Given the description of an element on the screen output the (x, y) to click on. 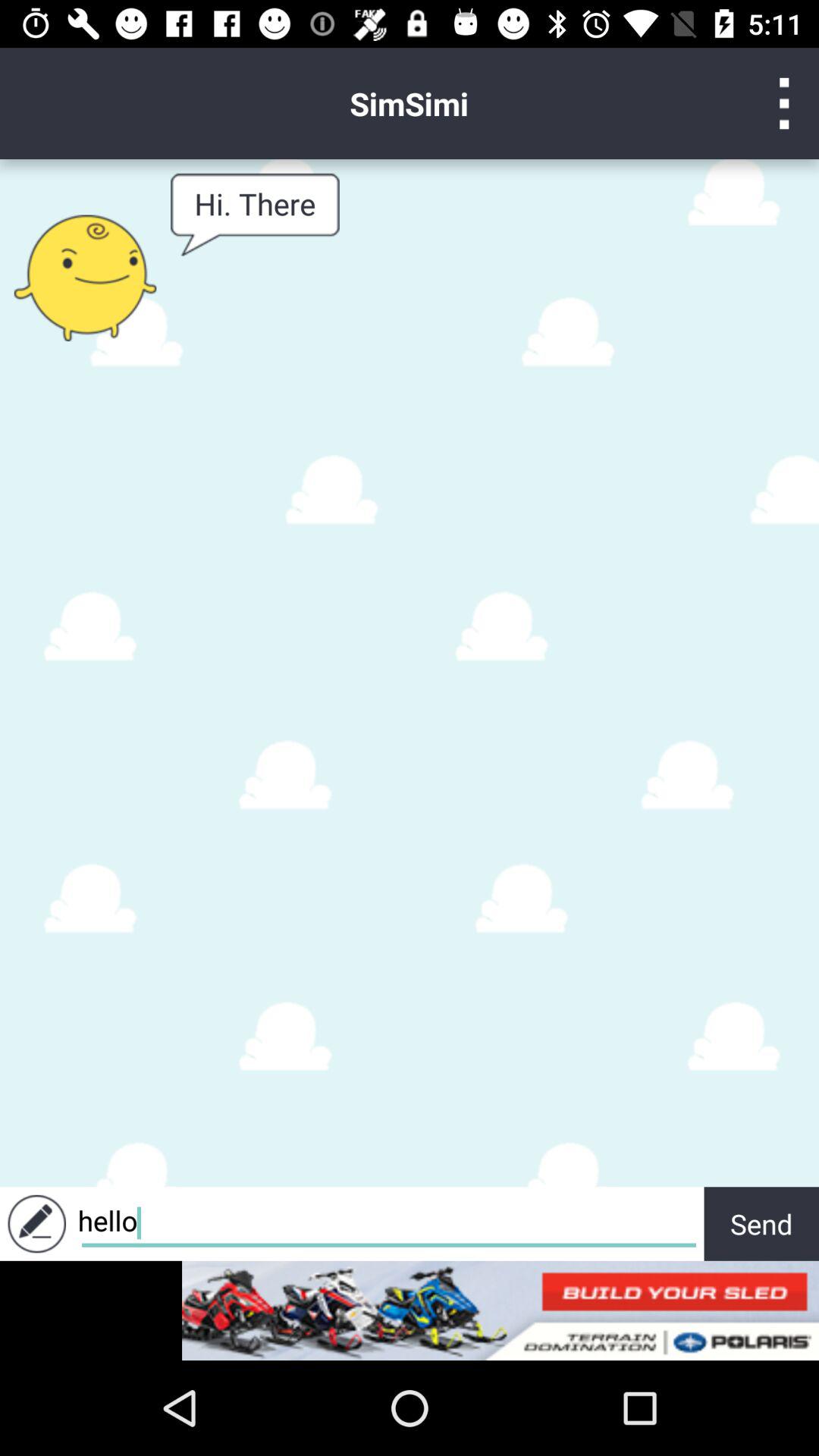
go to icon (784, 103)
